Given the description of an element on the screen output the (x, y) to click on. 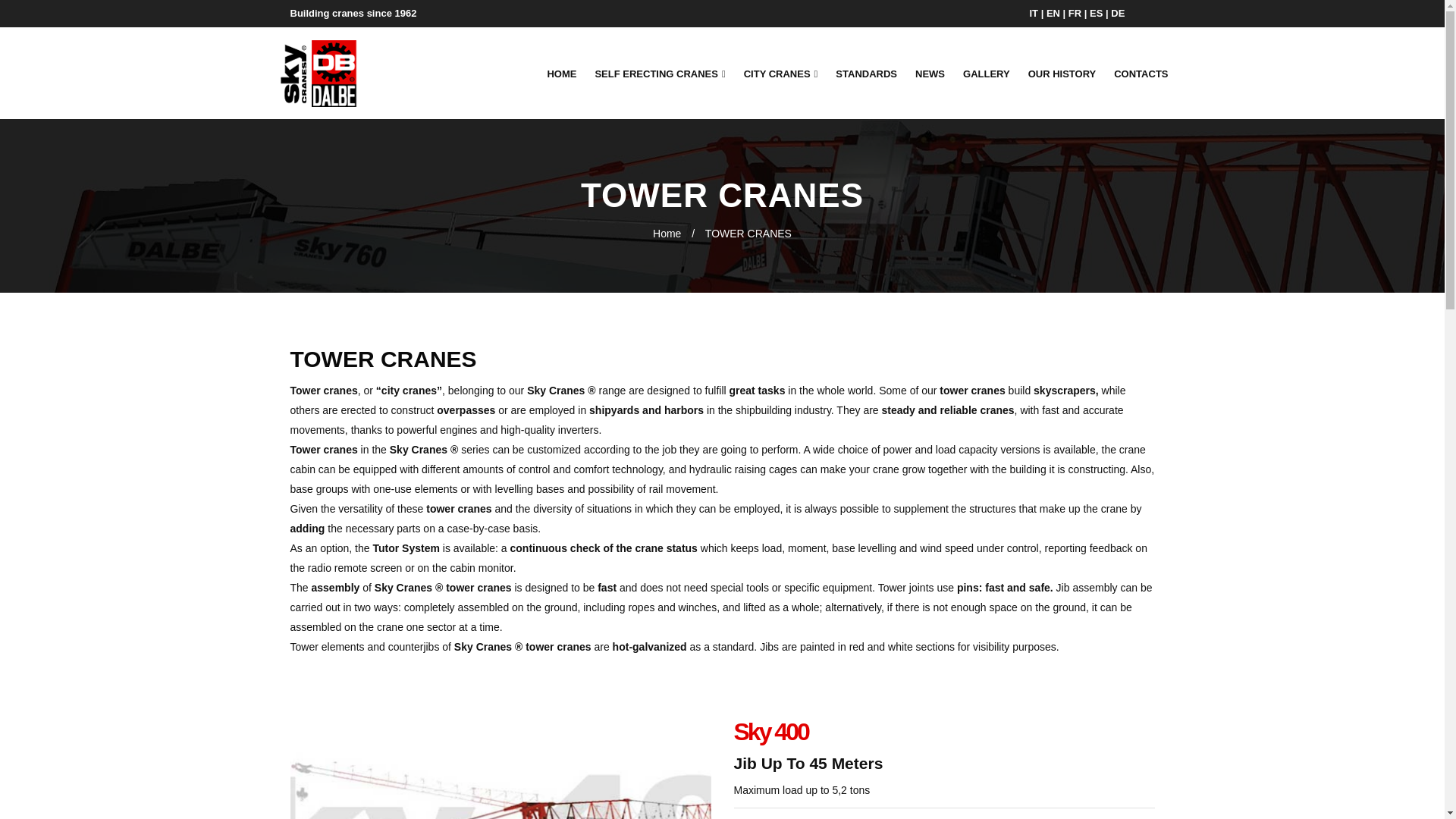
SELF ERECTING CRANES (659, 73)
OUR HISTORY (1062, 73)
FR (1074, 12)
DE (1117, 12)
ES (1095, 12)
NEWS (929, 73)
STANDARDS (866, 73)
CITY CRANES (781, 73)
CONTACTS (1140, 73)
GALLERY (986, 73)
HOME (561, 73)
EN (1052, 12)
Jib Up To 45 Meters (810, 763)
Home (666, 233)
TOWER CRANES (748, 233)
